Given the description of an element on the screen output the (x, y) to click on. 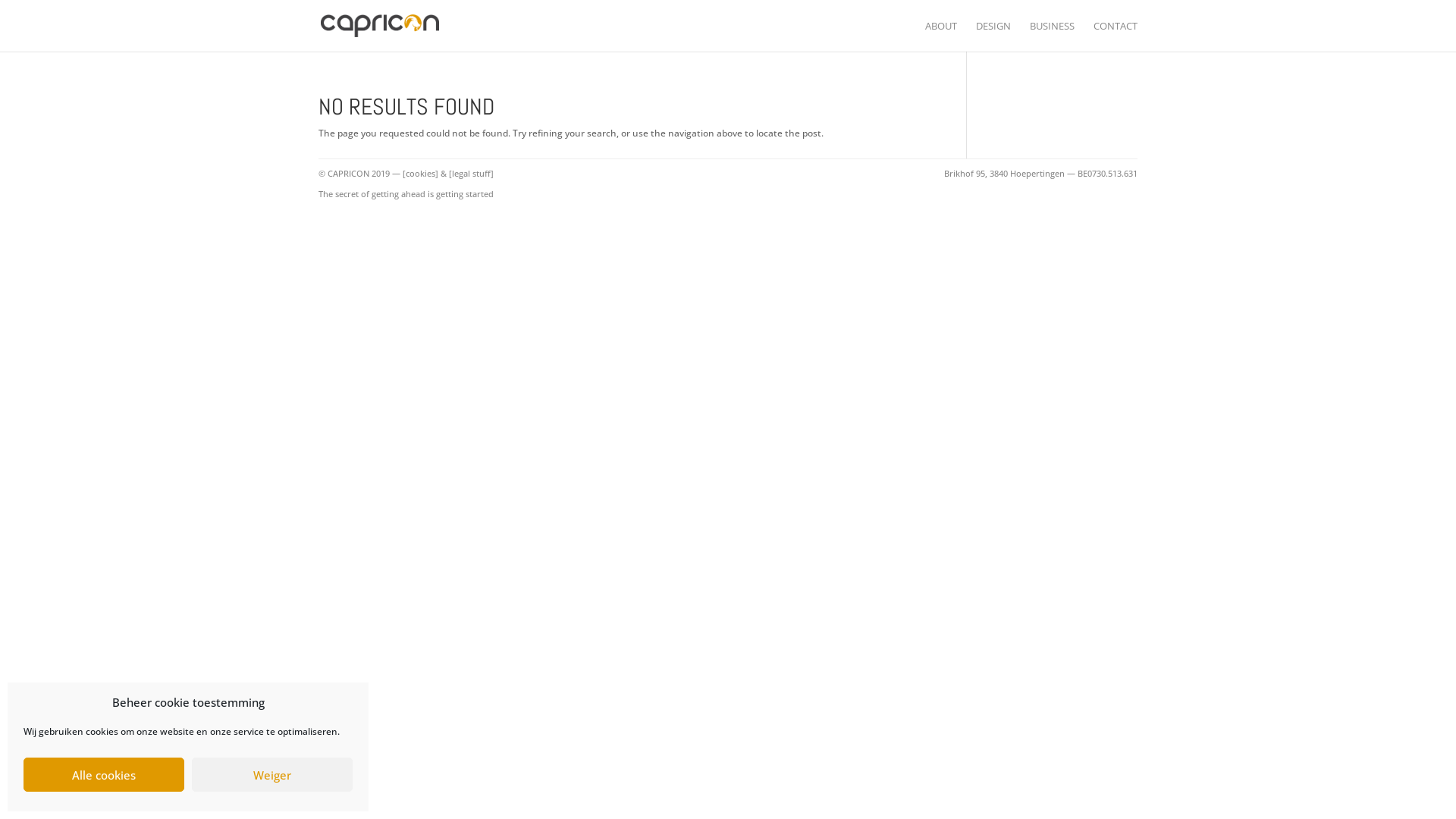
BUSINESS Element type: text (1051, 35)
[cookies] Element type: text (420, 172)
ABOUT Element type: text (941, 35)
CONTACT Element type: text (1115, 35)
Alle cookies Element type: text (103, 774)
DESIGN Element type: text (992, 35)
[legal stuff] Element type: text (470, 172)
Weiger Element type: text (271, 774)
